Given the description of an element on the screen output the (x, y) to click on. 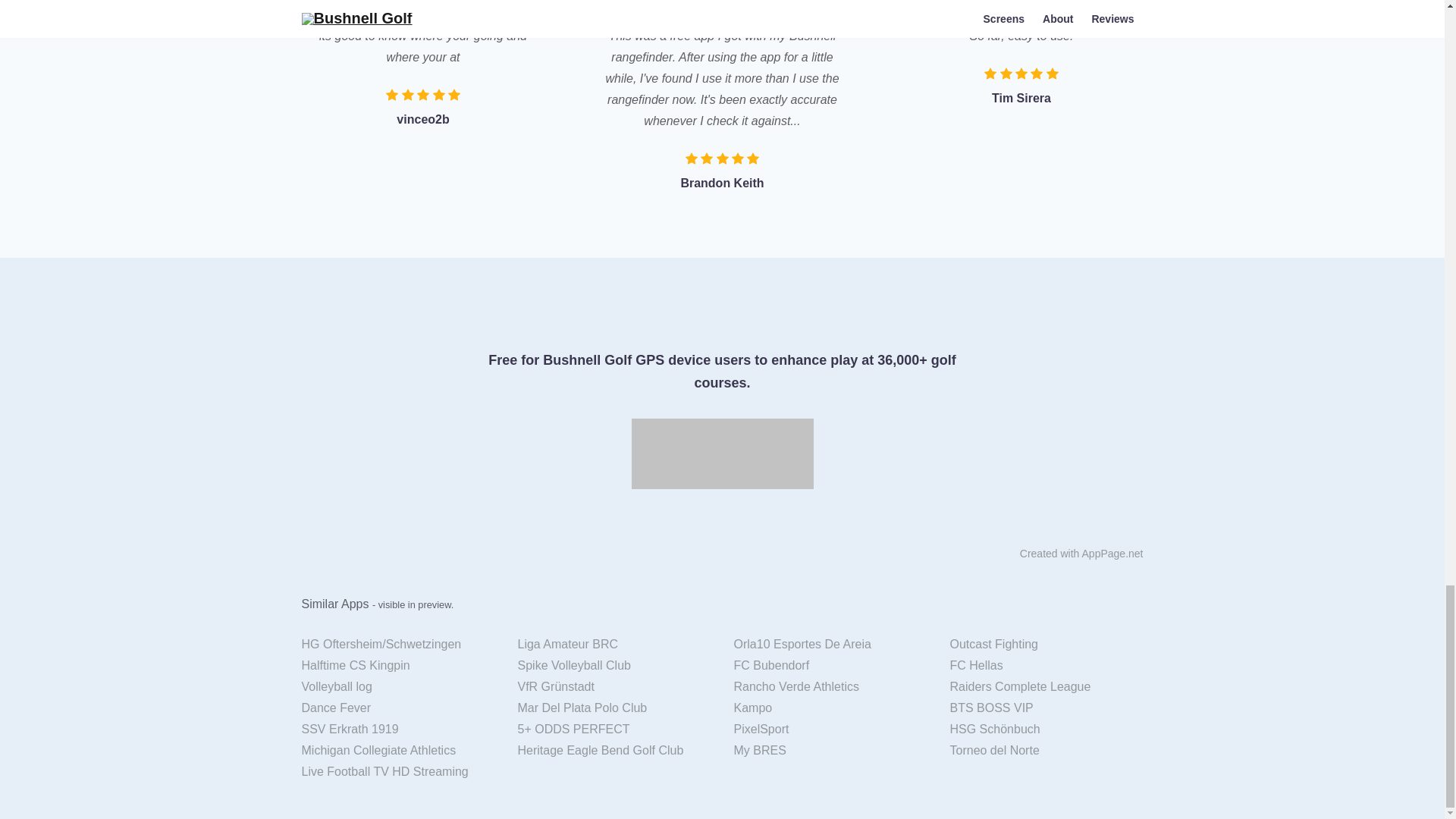
Halftime CS Kingpin (397, 665)
Liga Amateur BRC (614, 644)
Kampo (829, 708)
Outcast Fighting (1046, 644)
BTS BOSS VIP (1046, 708)
FC Hellas (1046, 665)
Orla10 Esportes De Areia (829, 644)
AppPage.net (1111, 553)
Dance Fever (397, 708)
FC Bubendorf (829, 665)
PixelSport (829, 729)
Volleyball log (397, 686)
Rancho Verde Athletics (829, 686)
Heritage Eagle Bend Golf Club (614, 750)
SSV Erkrath 1919 (397, 729)
